Given the description of an element on the screen output the (x, y) to click on. 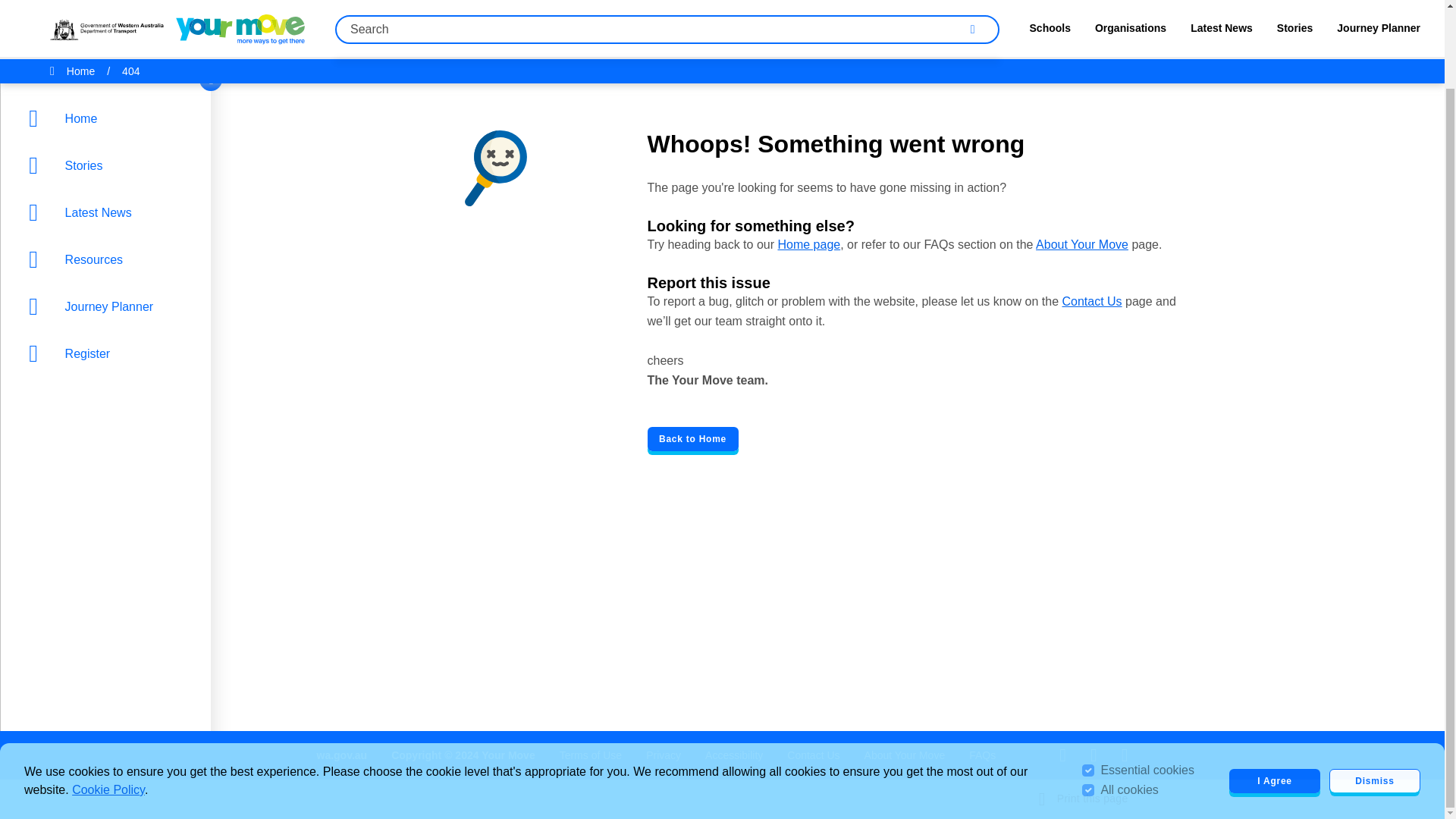
Resources (109, 170)
Register (109, 265)
Home page (808, 244)
Terms of Use (590, 755)
Latest News (109, 124)
Back to Home (692, 438)
Stories (109, 77)
Contact Us (813, 755)
wa.gov.au (342, 755)
toggle side navigation (210, 1)
About Your Move (904, 755)
Journey Planner (109, 218)
Accessibility (733, 755)
Privacy (663, 755)
About Your Move (1081, 244)
